Given the description of an element on the screen output the (x, y) to click on. 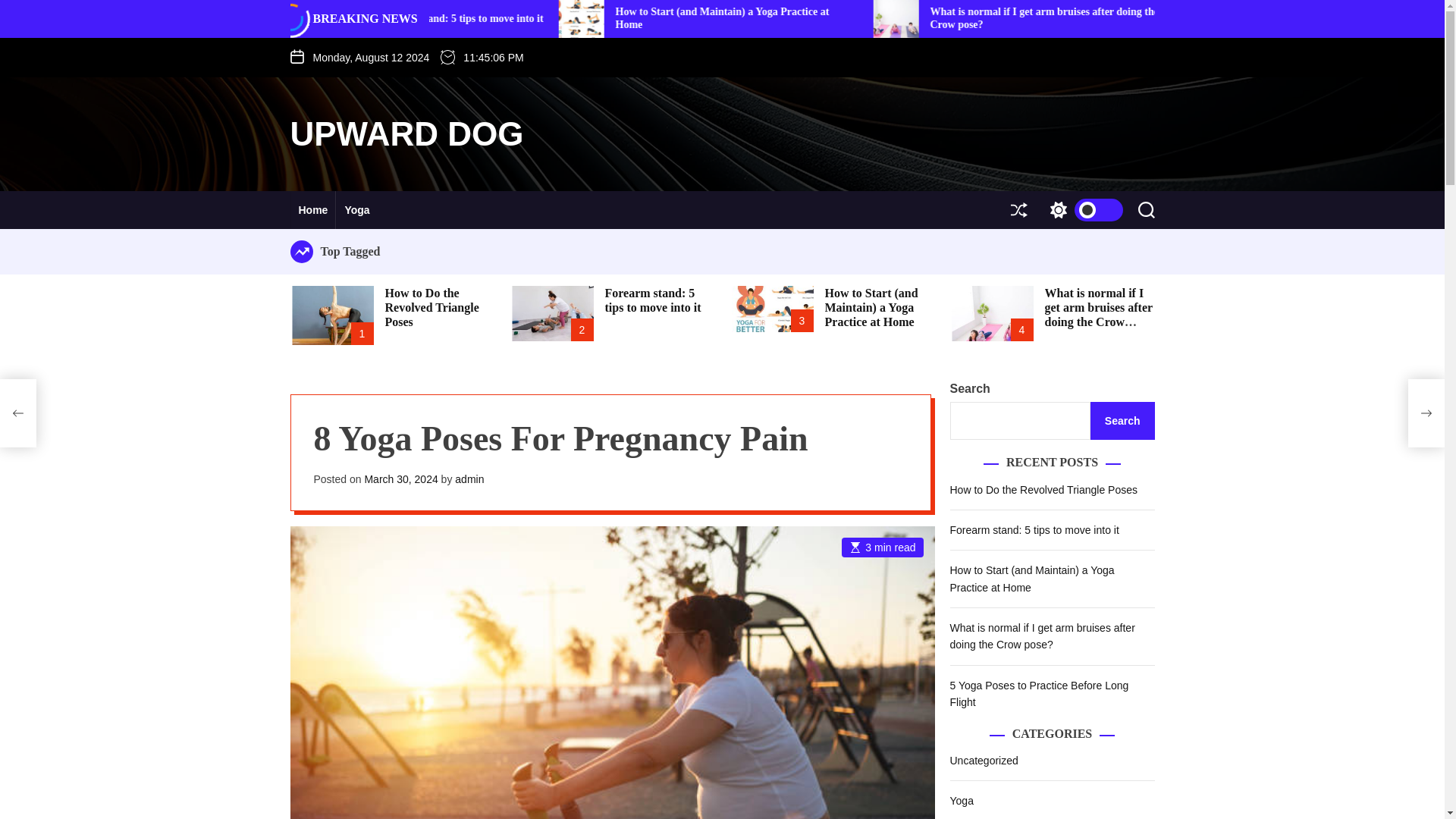
Forearm stand: 5 tips to move into it (818, 18)
Home (312, 209)
Yoga (356, 209)
How to Do the Revolved Triangle Poses (574, 18)
UPWARD DOG (405, 133)
